Given the description of an element on the screen output the (x, y) to click on. 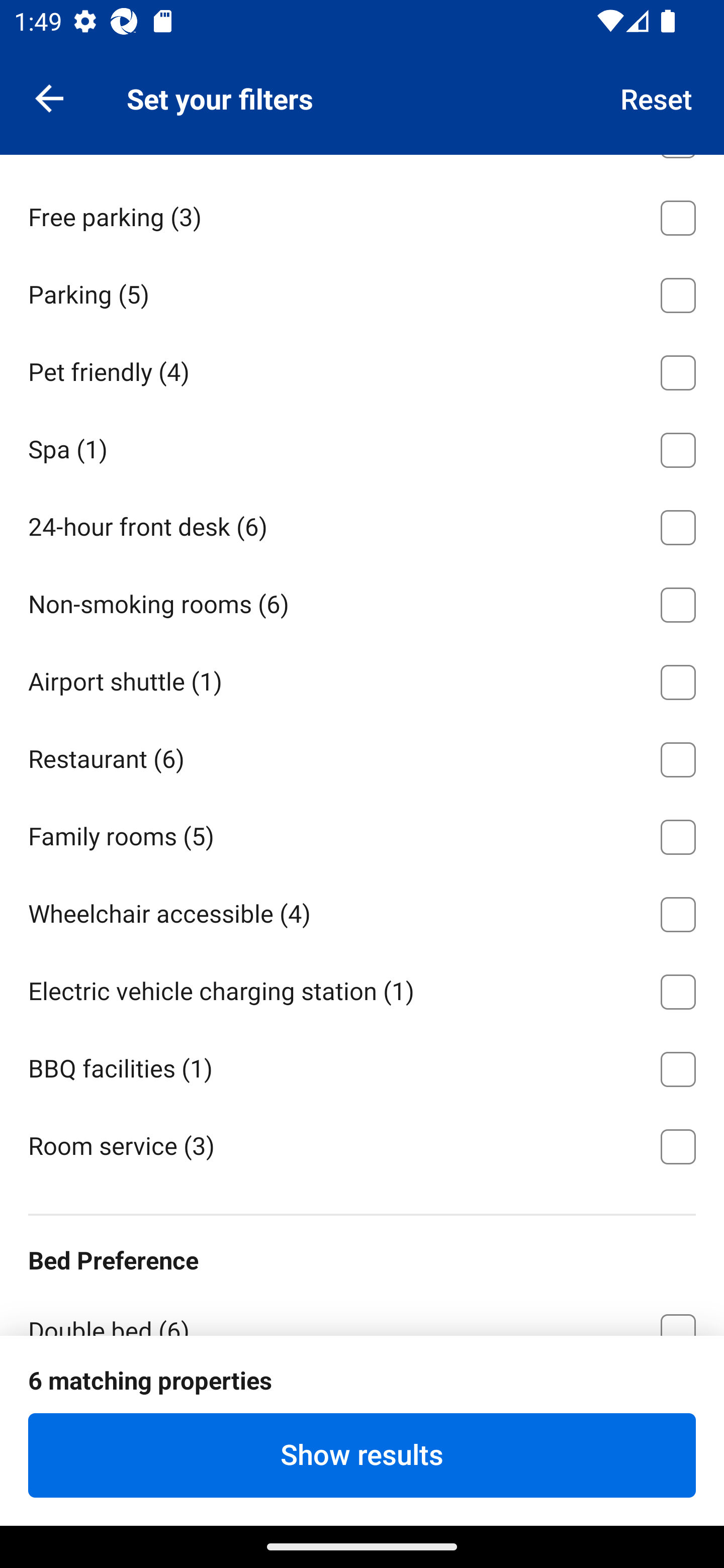
Navigate up (49, 97)
Reset (656, 97)
Free parking ⁦(3) (361, 214)
Parking ⁦(5) (361, 292)
Pet friendly ⁦(4) (361, 368)
Spa ⁦(1) (361, 446)
24-hour front desk ⁦(6) (361, 524)
Non-smoking rooms ⁦(6) (361, 600)
Airport shuttle ⁦(1) (361, 678)
Restaurant ⁦(6) (361, 756)
Family rooms ⁦(5) (361, 832)
Wheelchair accessible ⁦(4) (361, 910)
Electric vehicle charging station ⁦(1) (361, 988)
BBQ facilities ⁦(1) (361, 1065)
Room service ⁦(3) (361, 1144)
Double bed ⁦(6) (361, 1311)
2 single beds ⁦(2) (361, 1407)
Show results (361, 1454)
